Given the description of an element on the screen output the (x, y) to click on. 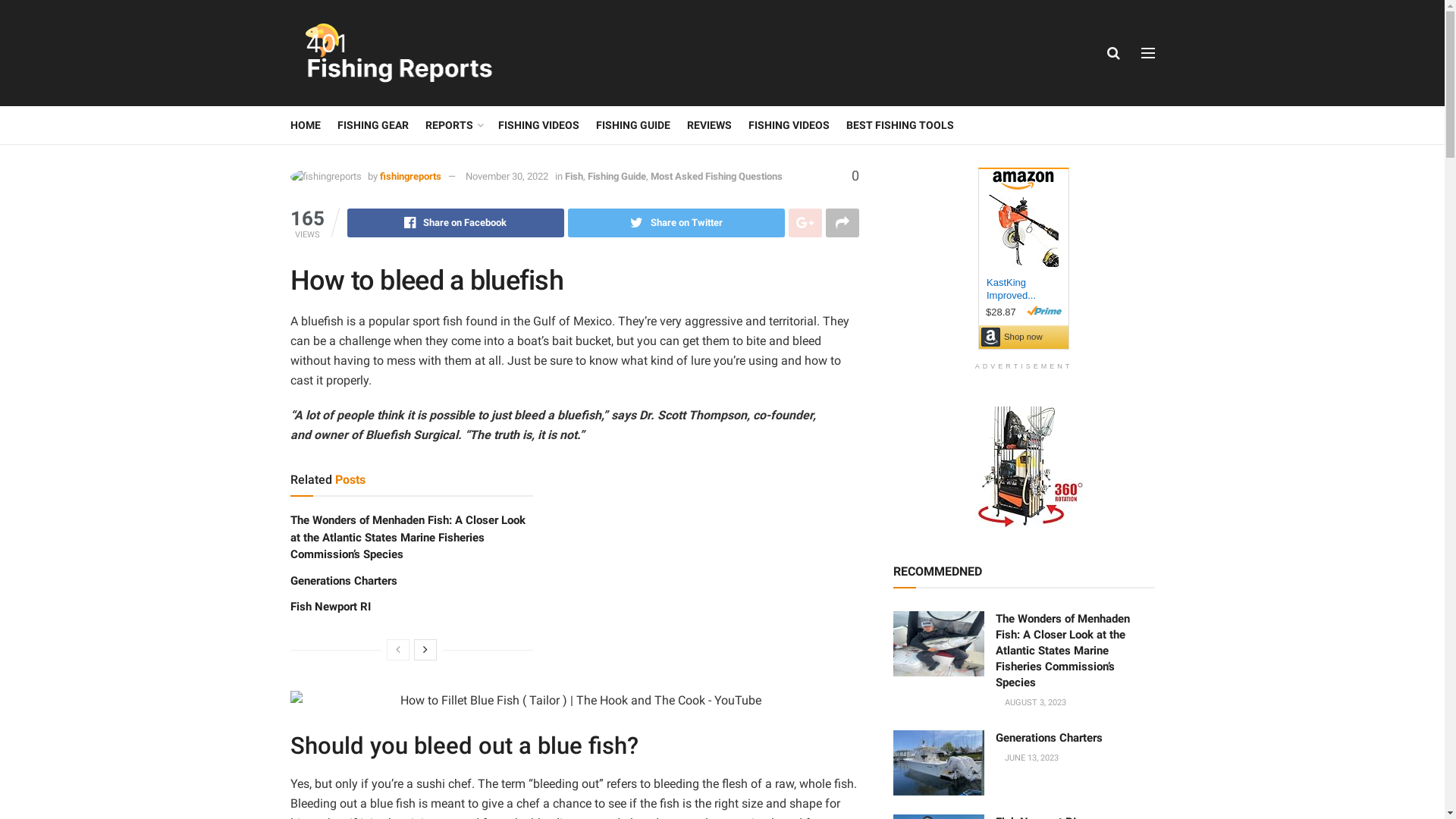
fishingreports Element type: text (409, 176)
AUGUST 3, 2023 Element type: text (1029, 702)
REPORTS Element type: text (452, 124)
Share on Twitter Element type: text (675, 222)
FISHING GEAR Element type: text (371, 124)
Fish Element type: text (573, 176)
JUNE 13, 2023 Element type: text (1025, 757)
0 Element type: text (845, 175)
Fish Newport RI Element type: text (329, 606)
HOME Element type: text (304, 124)
November 30, 2022 Element type: text (506, 176)
Most Asked Fishing Questions Element type: text (716, 176)
BEST FISHING TOOLS Element type: text (899, 124)
Previous Element type: hover (397, 649)
FISHING VIDEOS Element type: text (787, 124)
REVIEWS Element type: text (709, 124)
Share on Facebook Element type: text (455, 222)
Generations Charters Element type: text (1047, 737)
FISHING VIDEOS Element type: text (537, 124)
FISHING GUIDE Element type: text (633, 124)
Generations Charters Element type: text (342, 580)
Next Element type: hover (425, 649)
Fishing Guide Element type: text (615, 176)
